Given the description of an element on the screen output the (x, y) to click on. 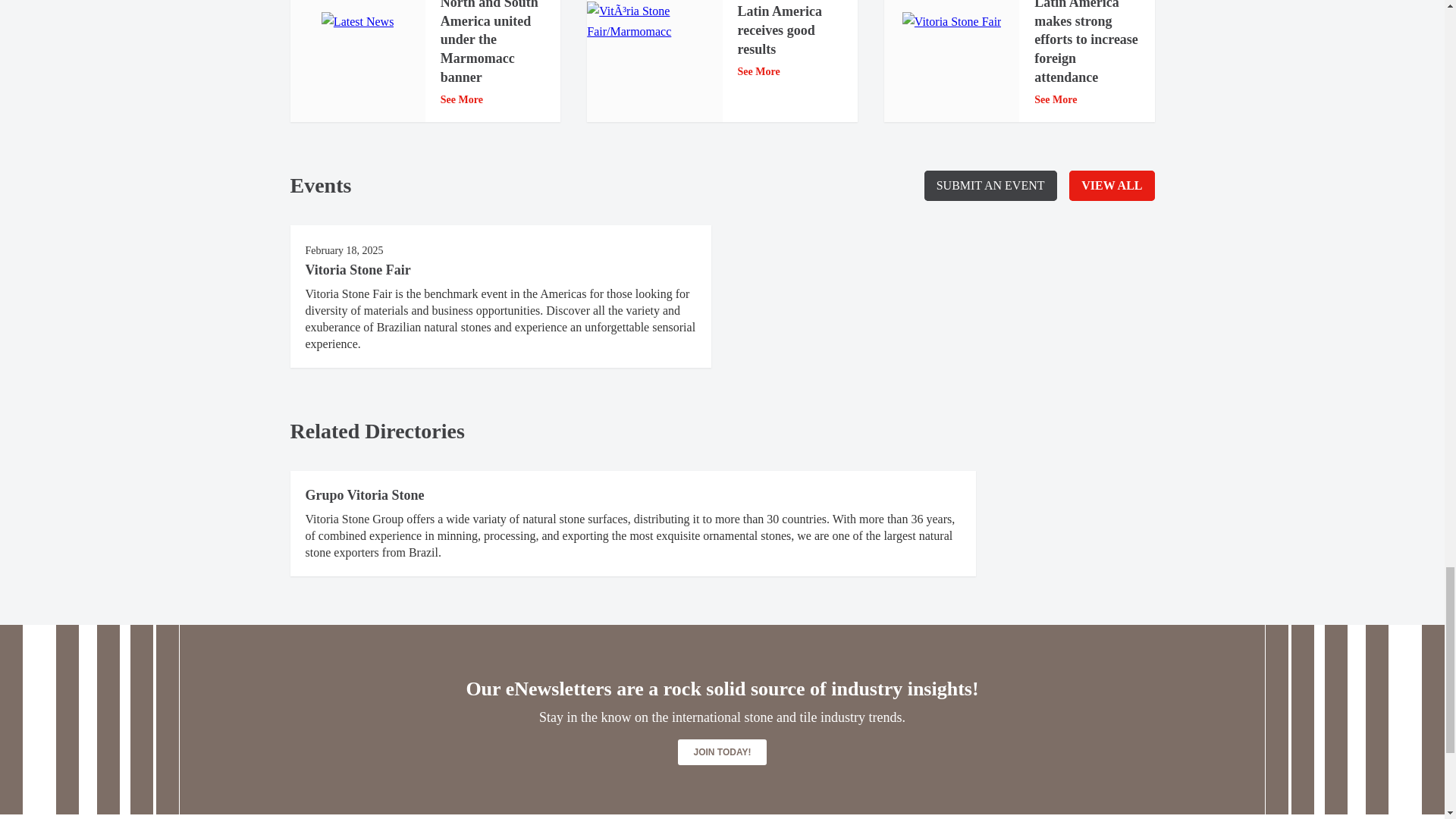
Vitoria Stone Fair (951, 21)
